Given the description of an element on the screen output the (x, y) to click on. 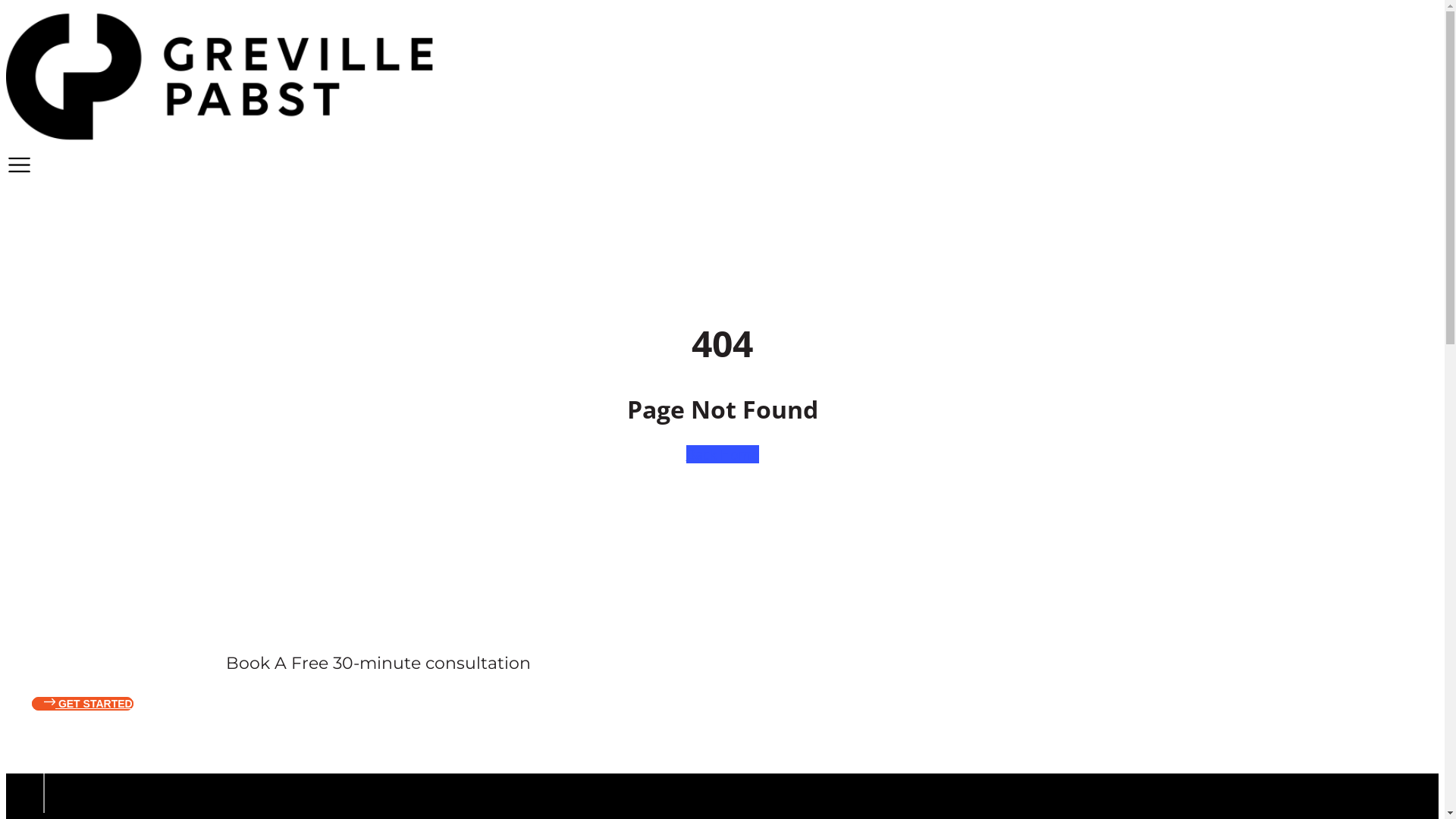
Back Home Element type: text (721, 454)
